Given the description of an element on the screen output the (x, y) to click on. 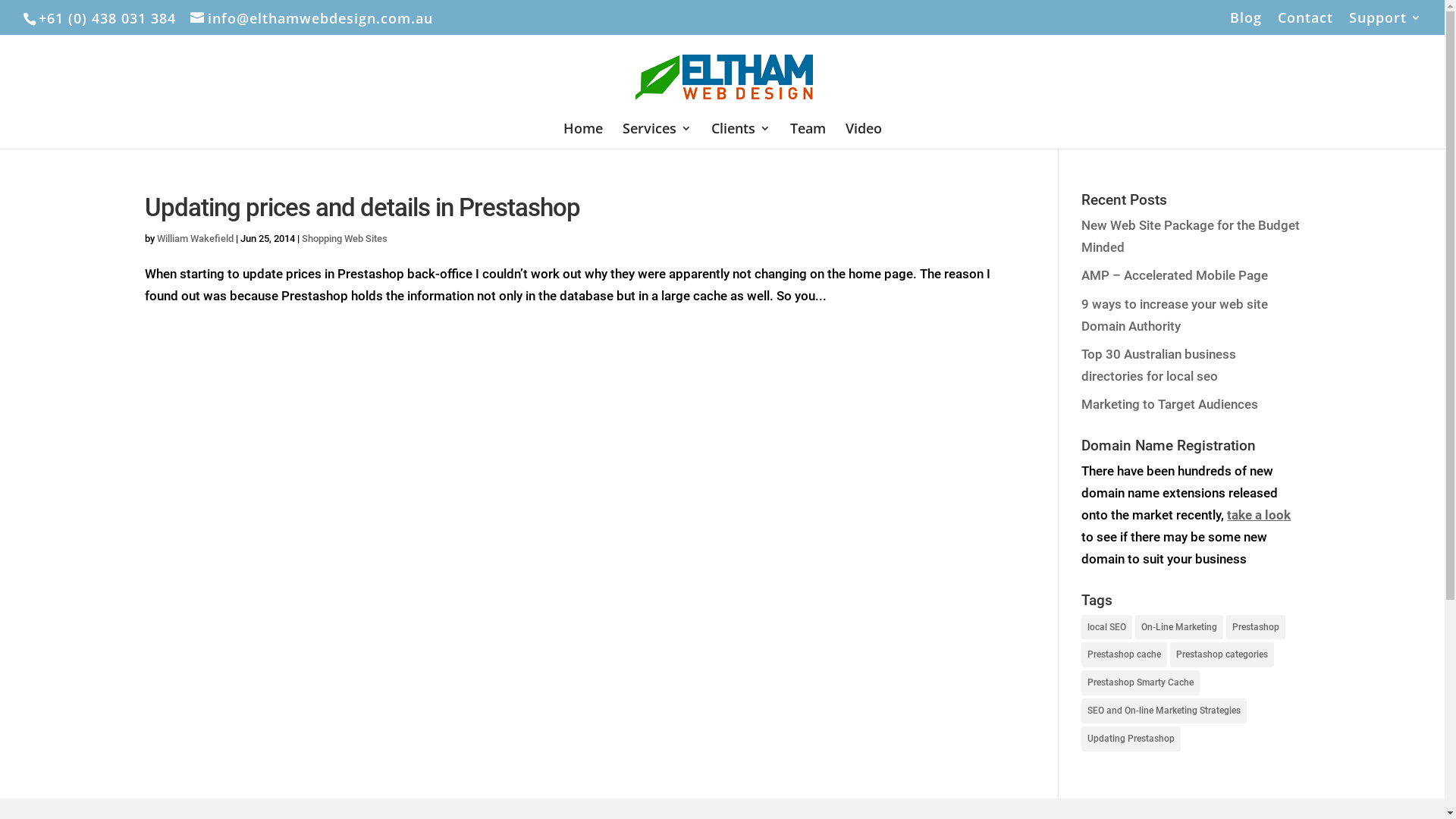
local SEO Element type: text (1106, 627)
+61 (0) 438 031 384 Element type: text (103, 18)
Clients Element type: text (740, 135)
Top 30 Australian business directories for local seo Element type: text (1158, 364)
Team Element type: text (807, 135)
Prestashop cache Element type: text (1124, 654)
New Web Site Package for the Budget Minded Element type: text (1190, 235)
Updating prices and details in Prestashop Element type: text (361, 207)
Home Element type: text (582, 135)
SEO and On-line Marketing Strategies Element type: text (1163, 710)
Prestashop Element type: text (1255, 627)
info@elthamwebdesign.com.au Element type: text (311, 18)
Services Element type: text (655, 135)
Blog Element type: text (1245, 22)
take a look Element type: text (1258, 514)
Updating Prestashop Element type: text (1130, 738)
Support Element type: text (1385, 22)
Shopping Web Sites Element type: text (344, 238)
Prestashop categories Element type: text (1222, 654)
On-Line Marketing Element type: text (1179, 627)
9 ways to increase your web site Domain Authority Element type: text (1174, 314)
Marketing to Target Audiences Element type: text (1169, 403)
William Wakefield Element type: text (194, 238)
Contact Element type: text (1305, 22)
Video Element type: text (862, 135)
Prestashop Smarty Cache Element type: text (1140, 682)
